Given the description of an element on the screen output the (x, y) to click on. 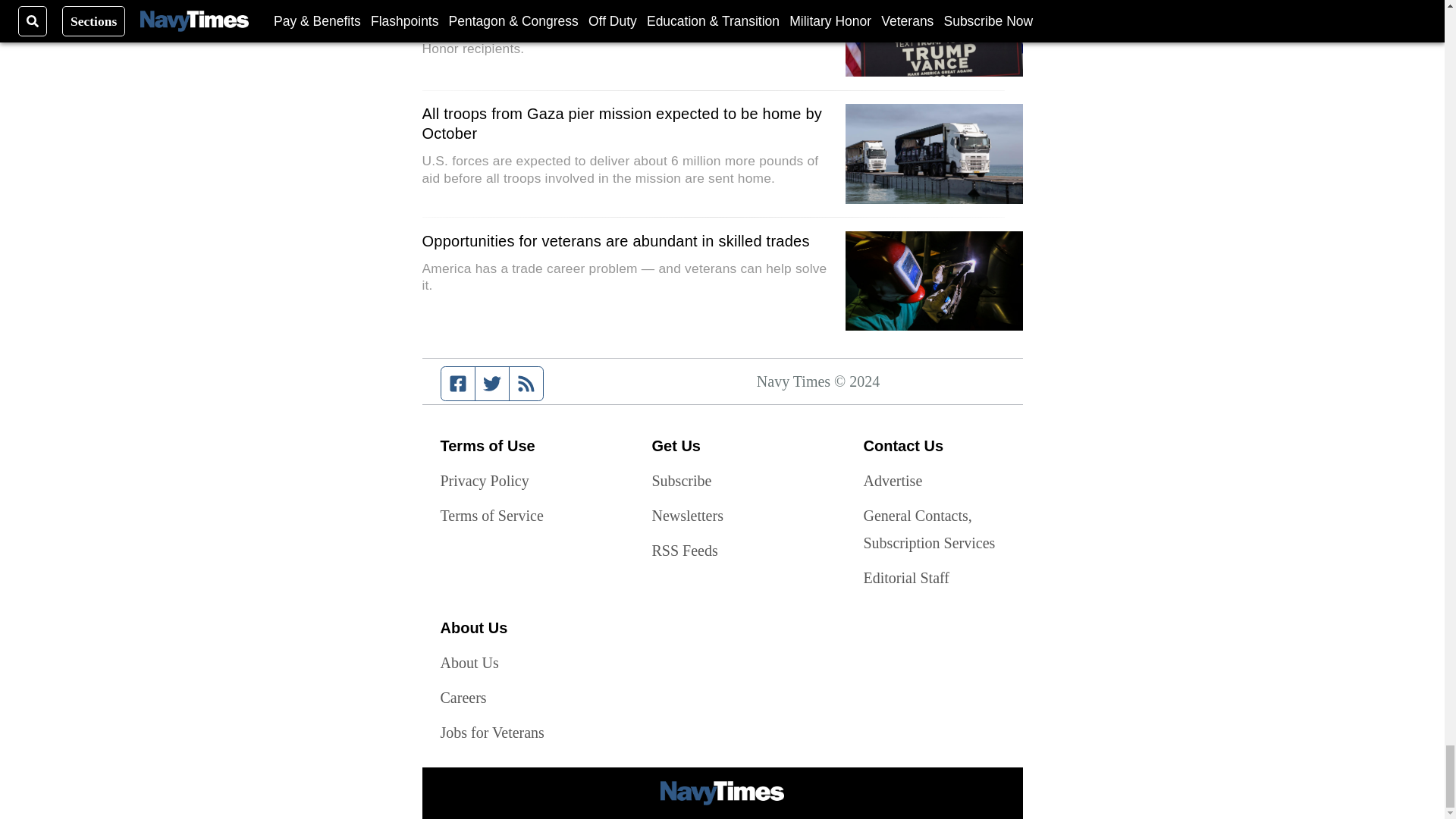
RSS feed (526, 383)
Twitter feed (491, 383)
Facebook page (458, 383)
